Given the description of an element on the screen output the (x, y) to click on. 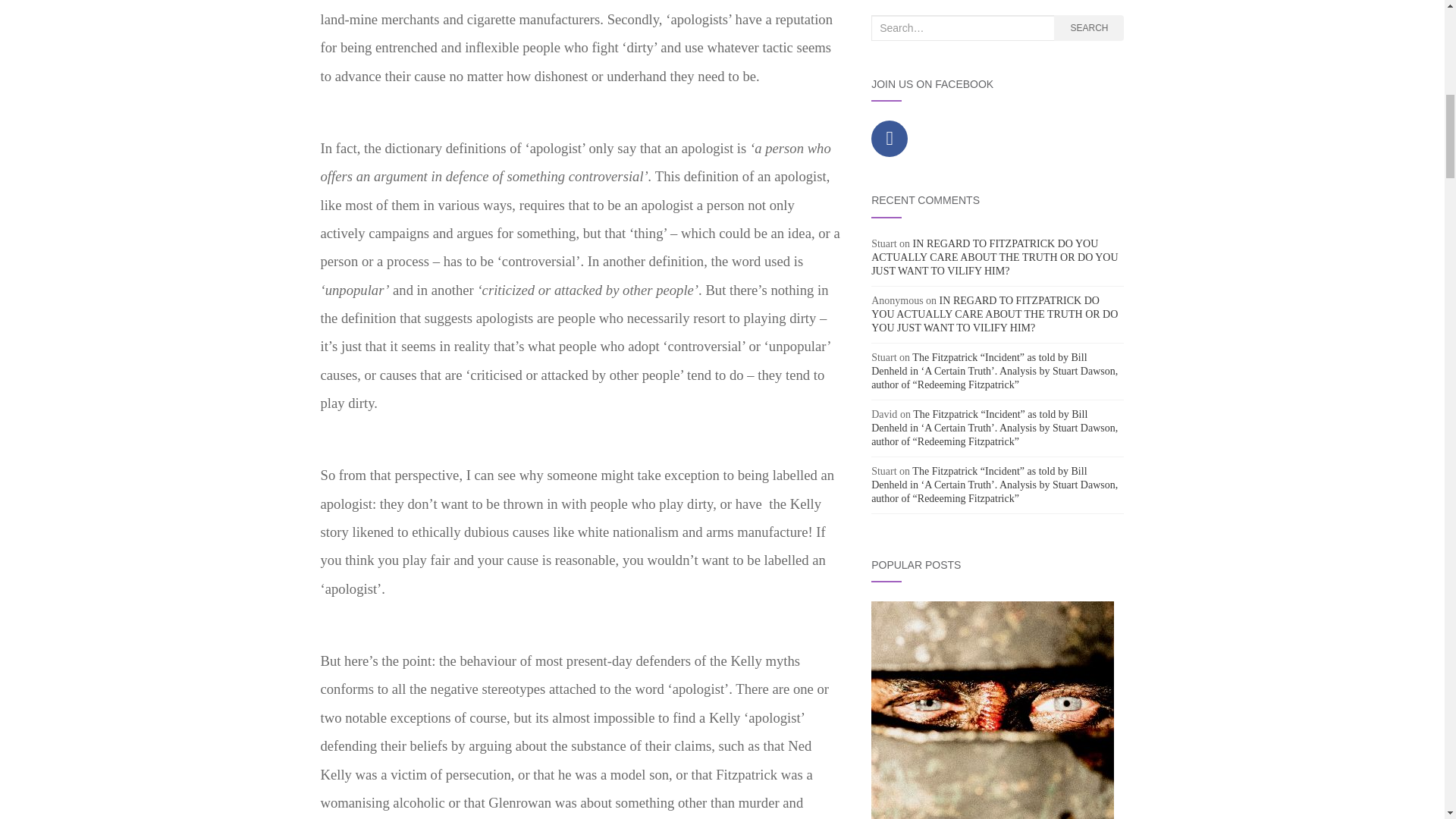
Film Review : True Story of the Kelly Gang (991, 710)
SEARCH (1089, 27)
Facebook (888, 138)
Search for: (962, 27)
